Given the description of an element on the screen output the (x, y) to click on. 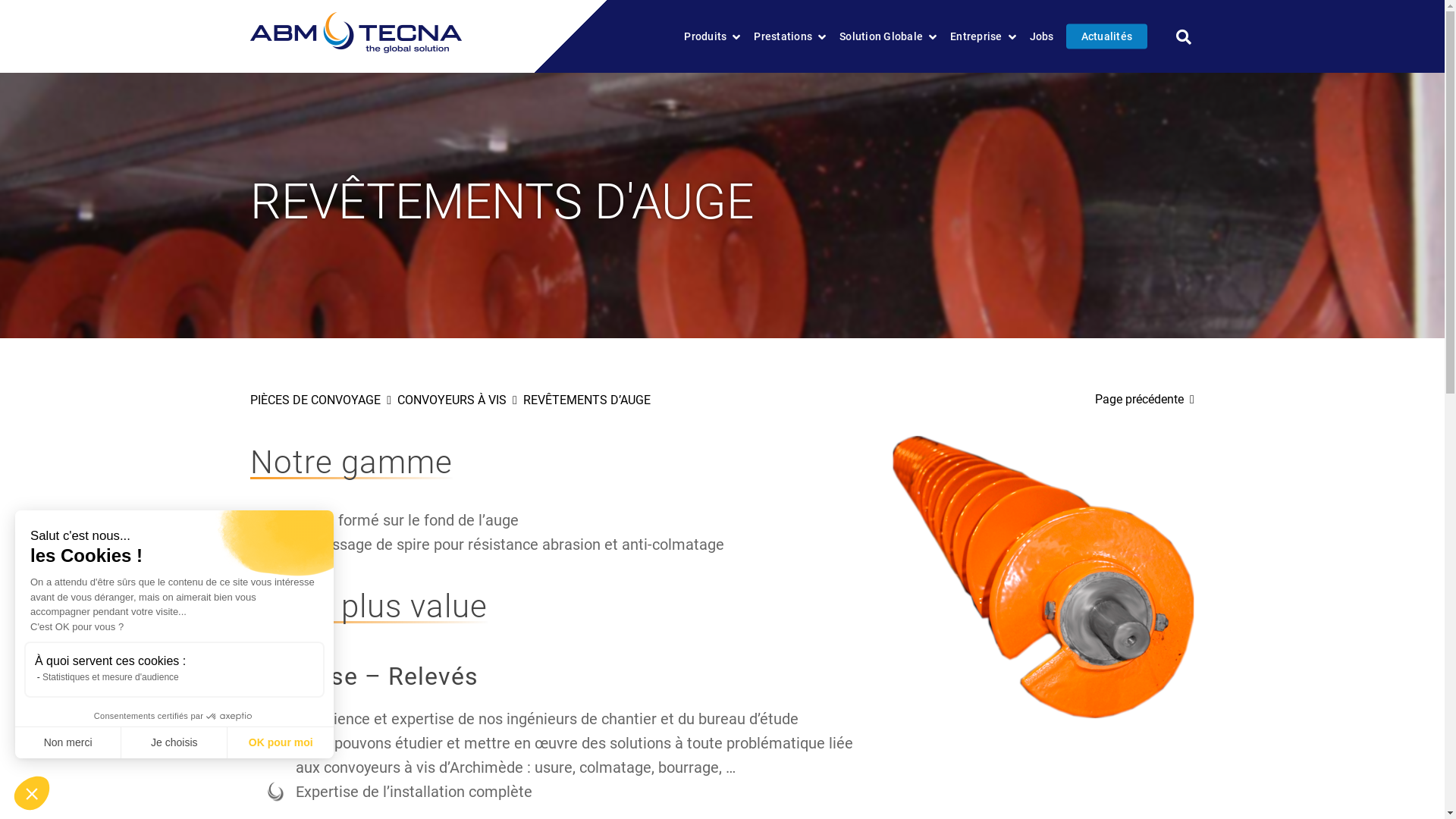
Solution Globale Element type: text (888, 36)
Produits Element type: text (712, 36)
Entreprise Element type: text (983, 36)
Jobs Element type: text (1041, 36)
Prestations Element type: text (790, 36)
